Given the description of an element on the screen output the (x, y) to click on. 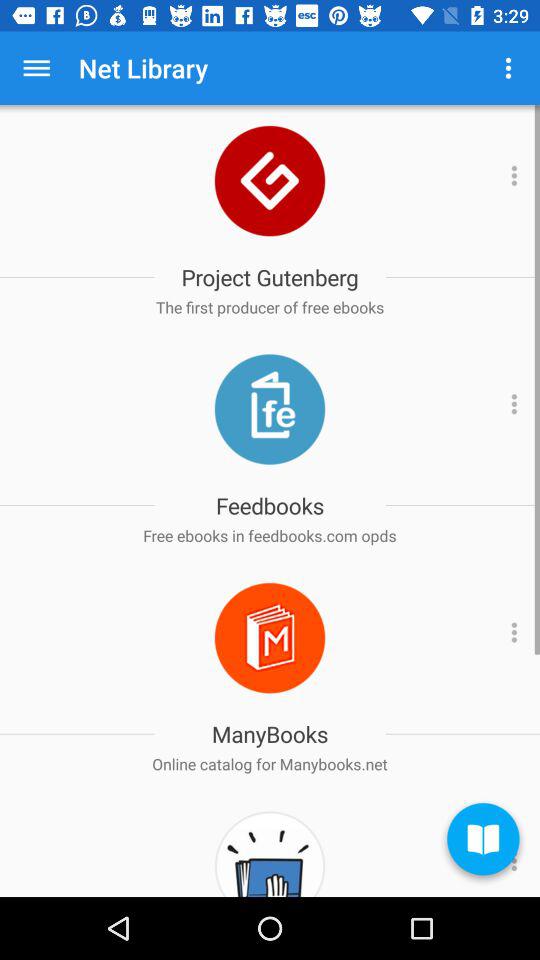
choose app below project gutenberg item (270, 307)
